Given the description of an element on the screen output the (x, y) to click on. 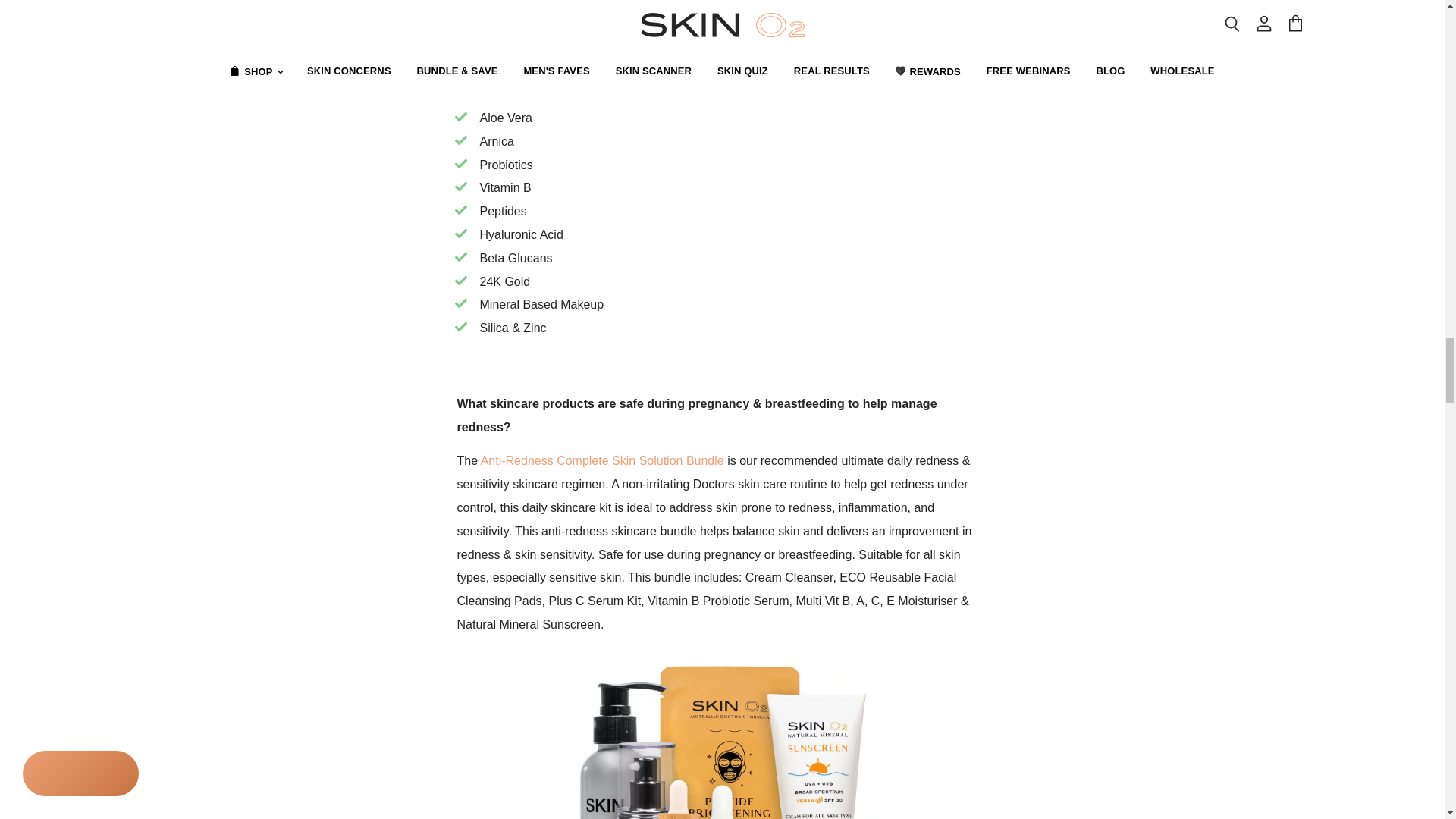
Anti-Redness Complete Skin Solution Bundle (601, 460)
